Given the description of an element on the screen output the (x, y) to click on. 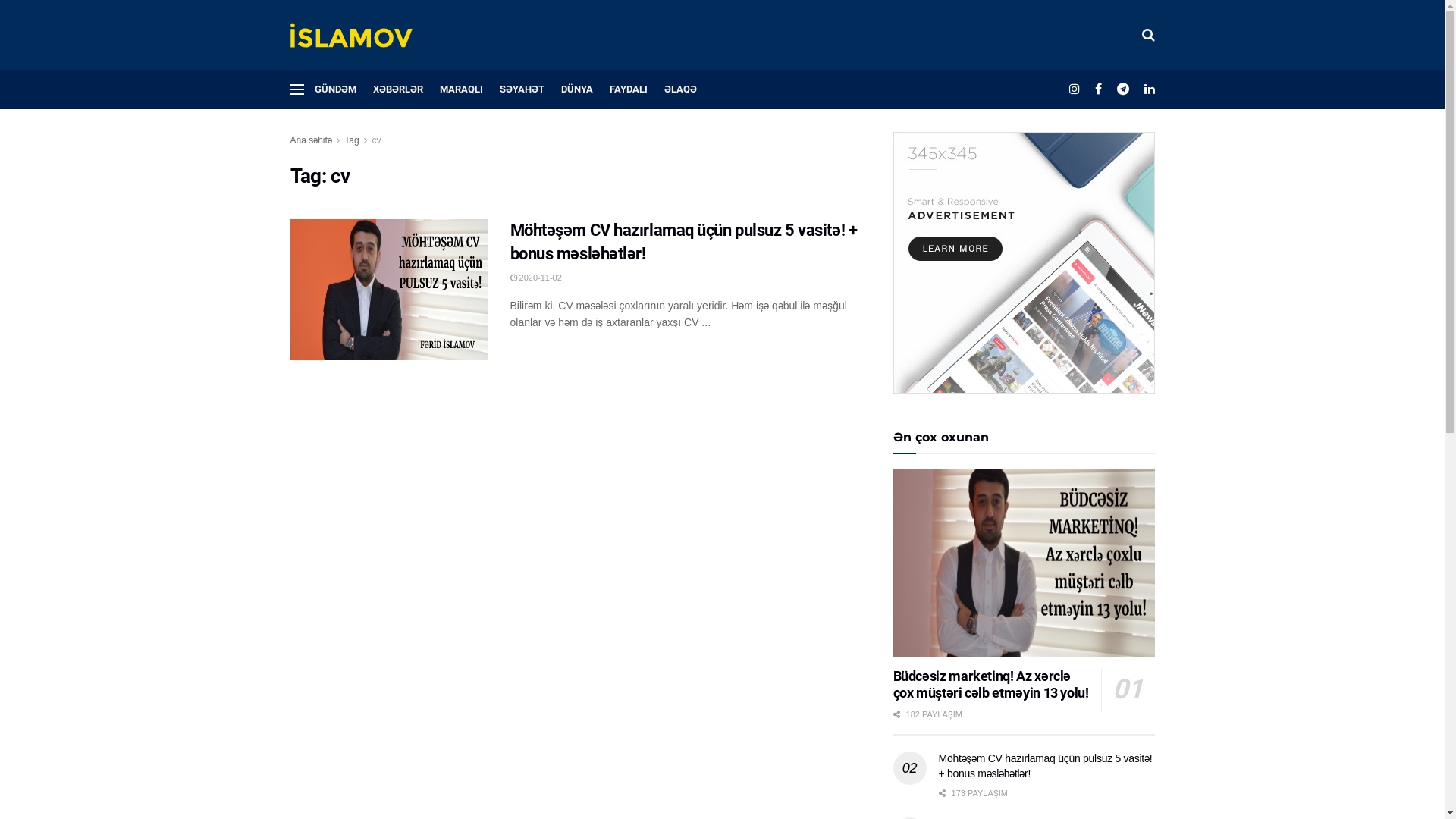
2020-11-02 Element type: text (535, 277)
FAYDALI Element type: text (628, 89)
MARAQLI Element type: text (461, 89)
Tag Element type: text (351, 139)
cv Element type: text (375, 139)
